Given the description of an element on the screen output the (x, y) to click on. 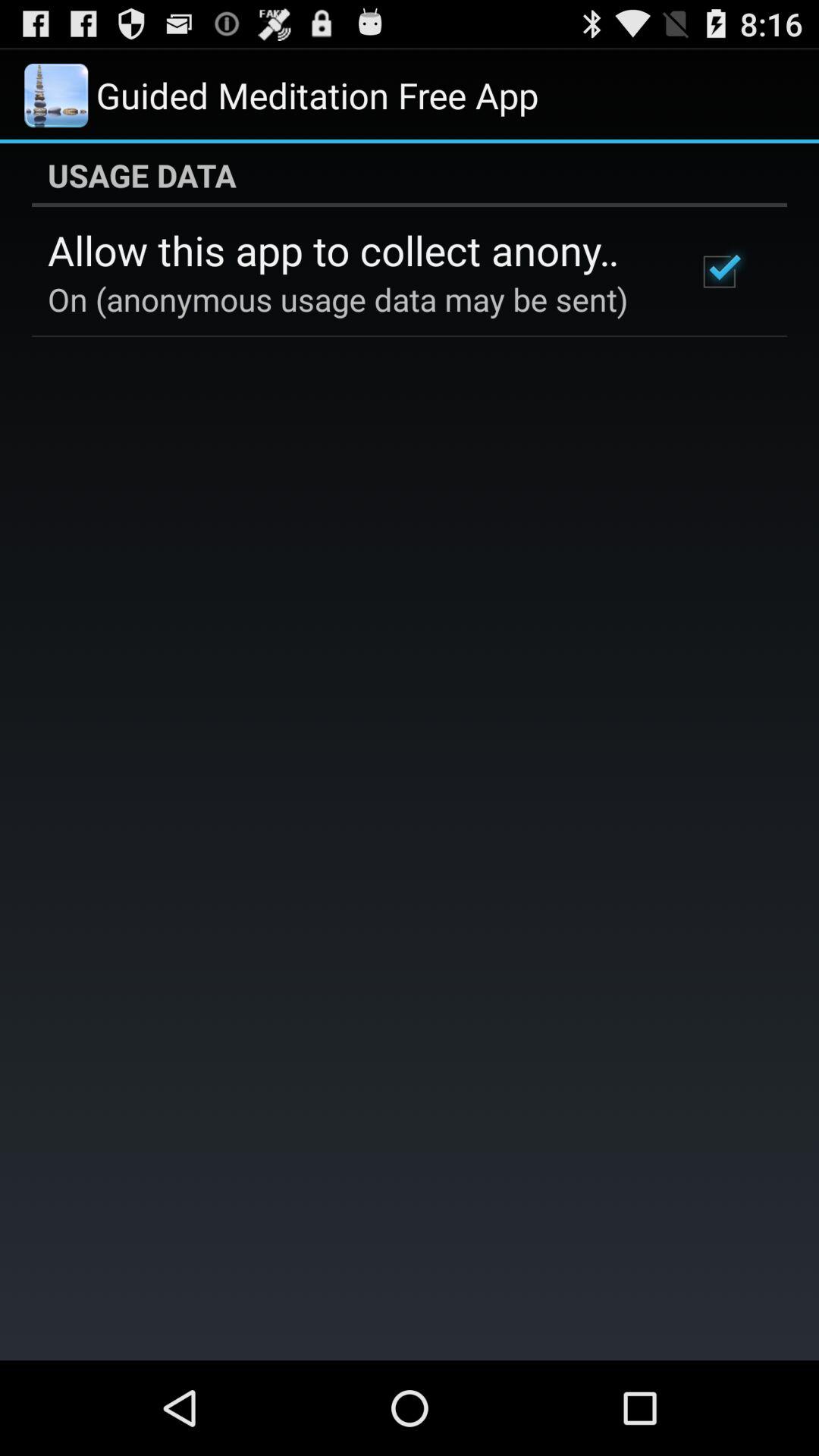
tap the icon below usage data (719, 271)
